Given the description of an element on the screen output the (x, y) to click on. 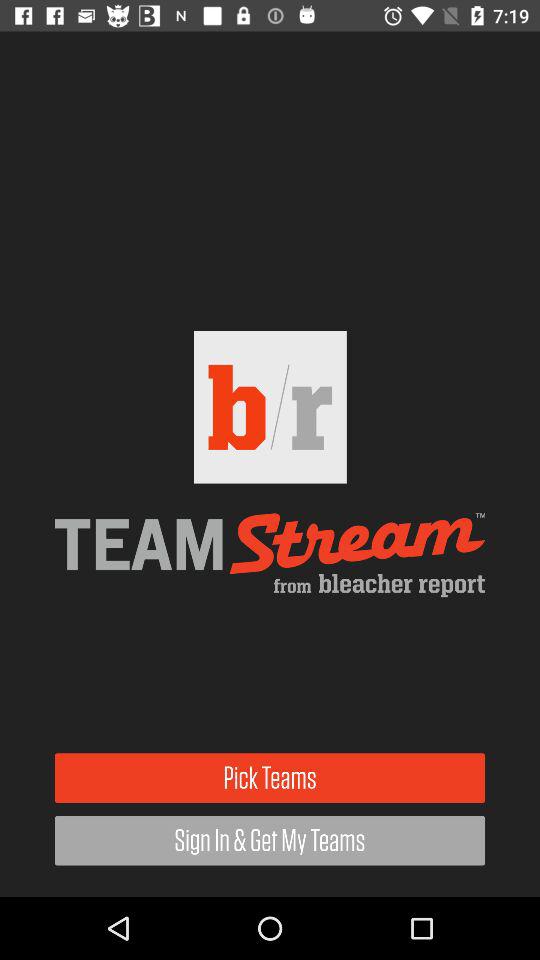
select icon below pick teams (269, 840)
